Given the description of an element on the screen output the (x, y) to click on. 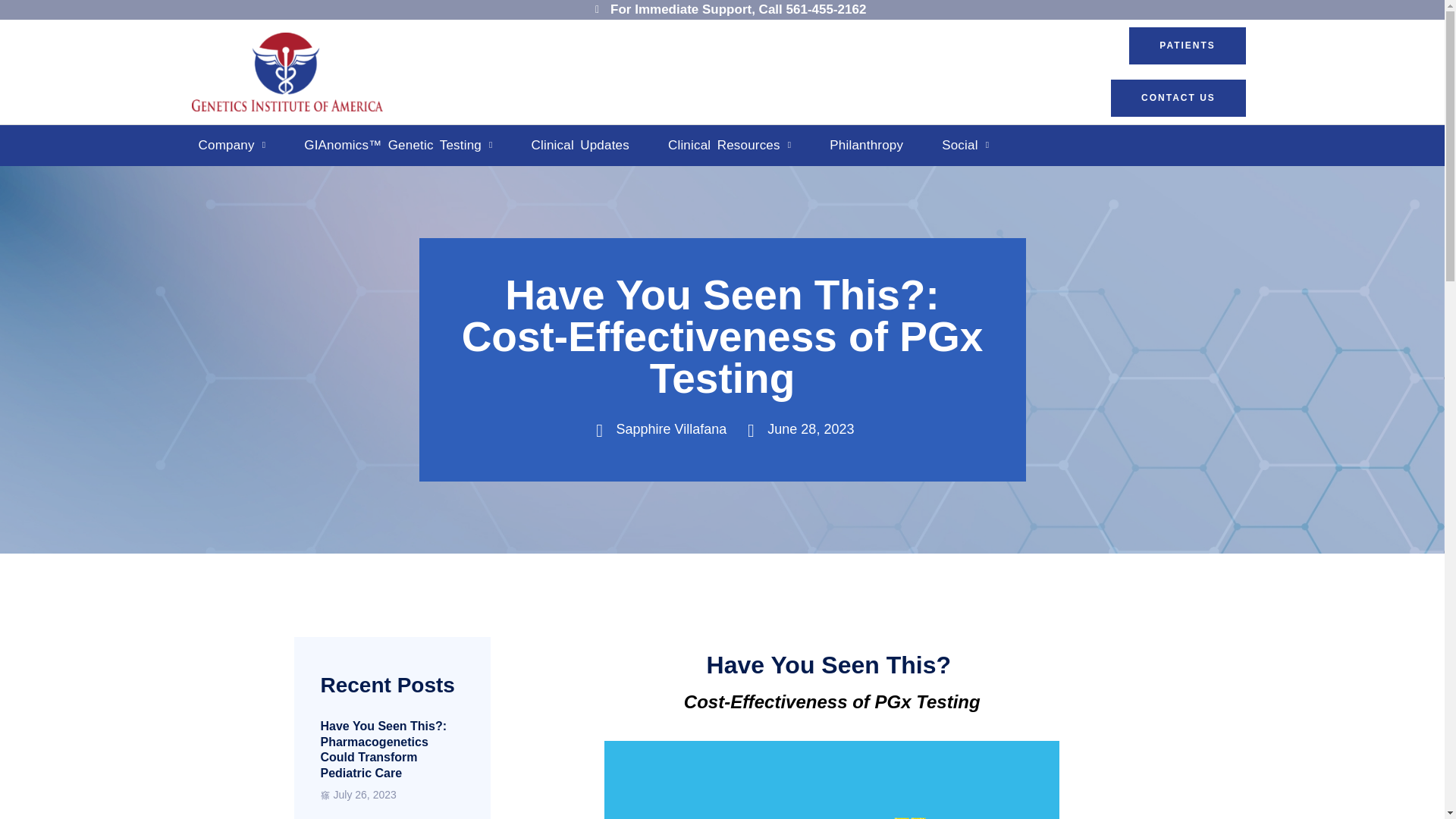
Company (231, 145)
For Immediate Support, Call 561-455-2162 (726, 9)
Clinical Resources (729, 145)
CONTACT US (1178, 98)
Clinical Updates (580, 145)
PATIENTS (1187, 45)
